Given the description of an element on the screen output the (x, y) to click on. 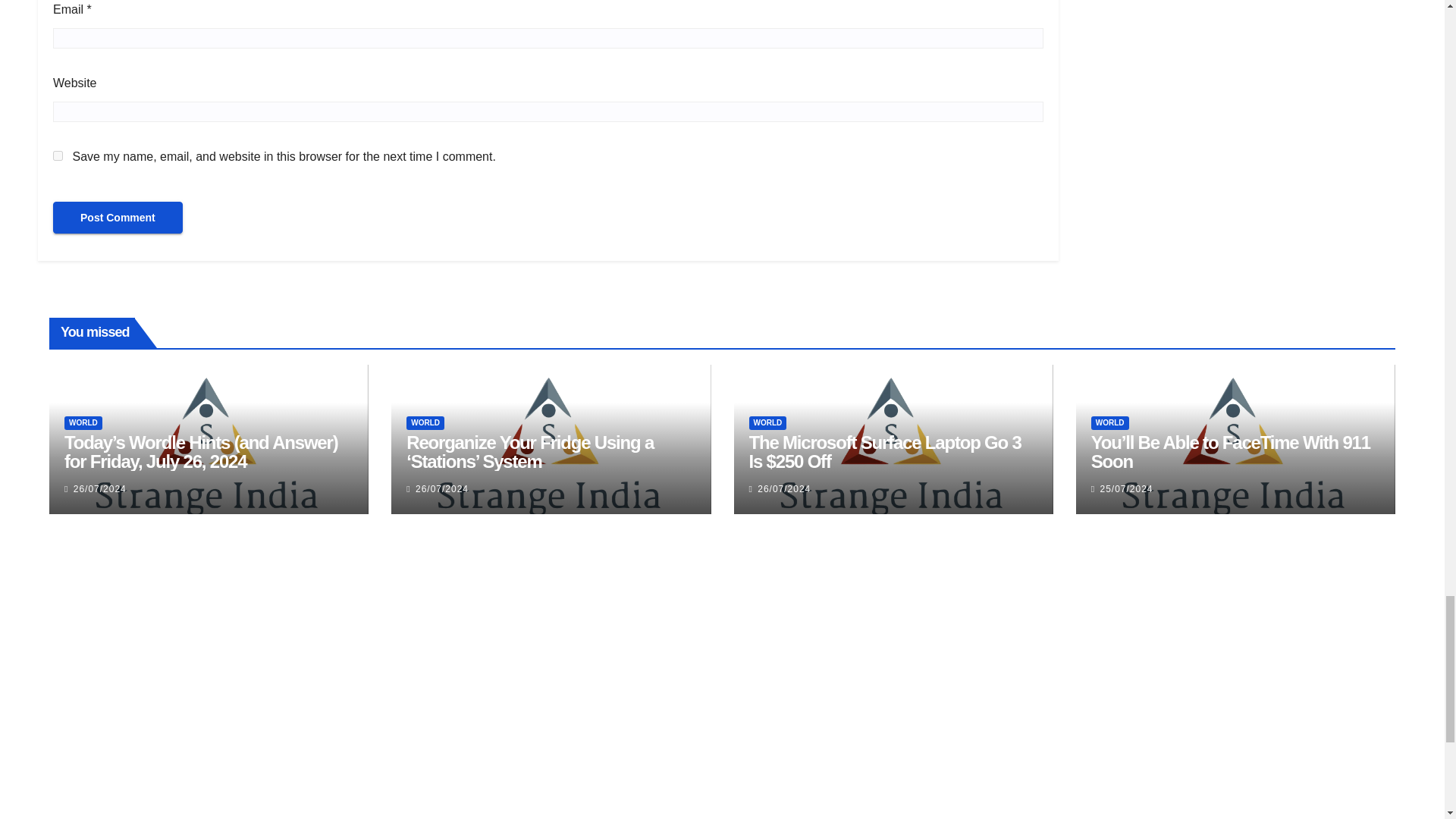
Post Comment (117, 217)
yes (57, 155)
